Given the description of an element on the screen output the (x, y) to click on. 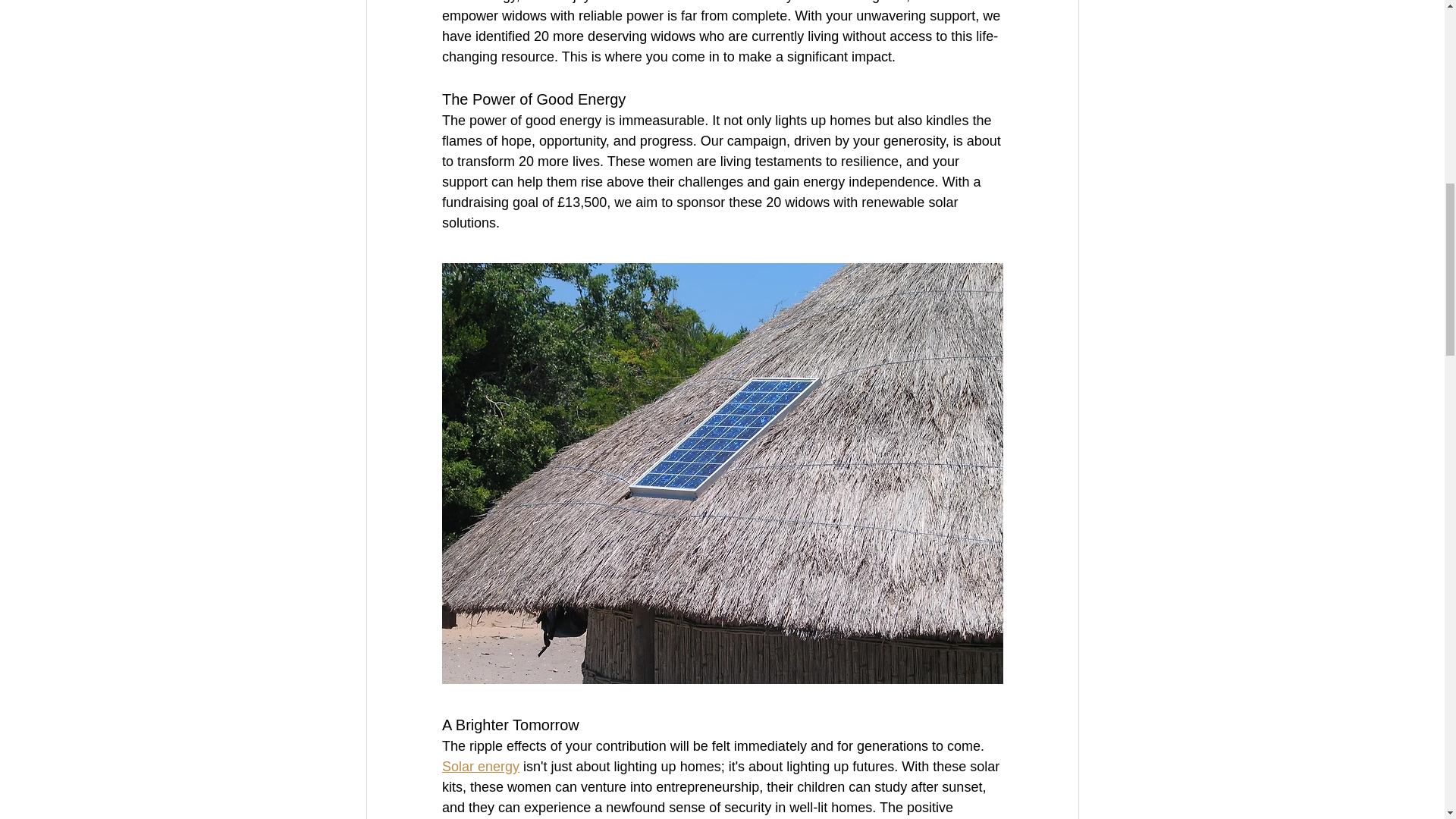
Solar energy (479, 766)
